Given the description of an element on the screen output the (x, y) to click on. 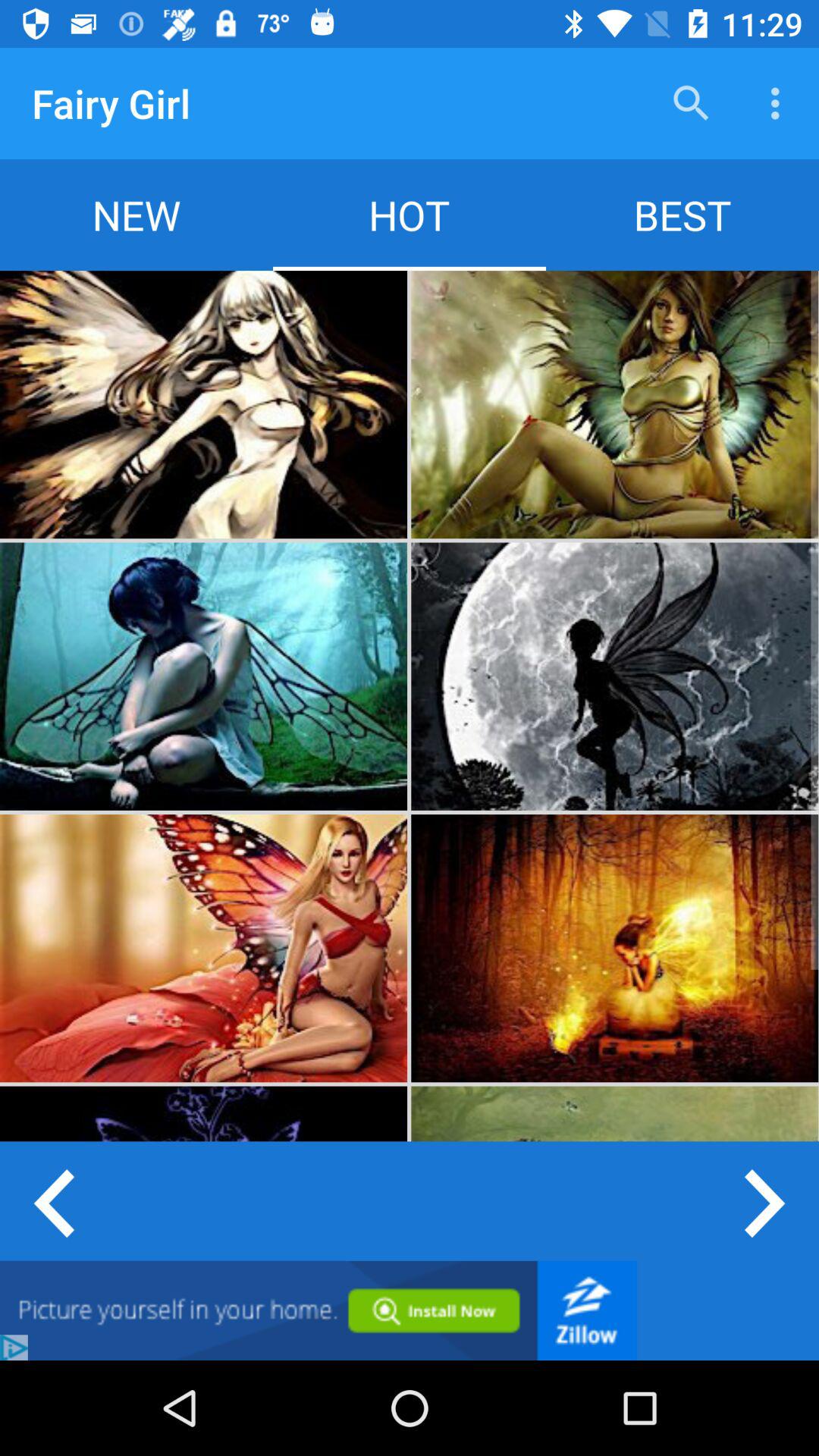
press the item above the best item (779, 103)
